Given the description of an element on the screen output the (x, y) to click on. 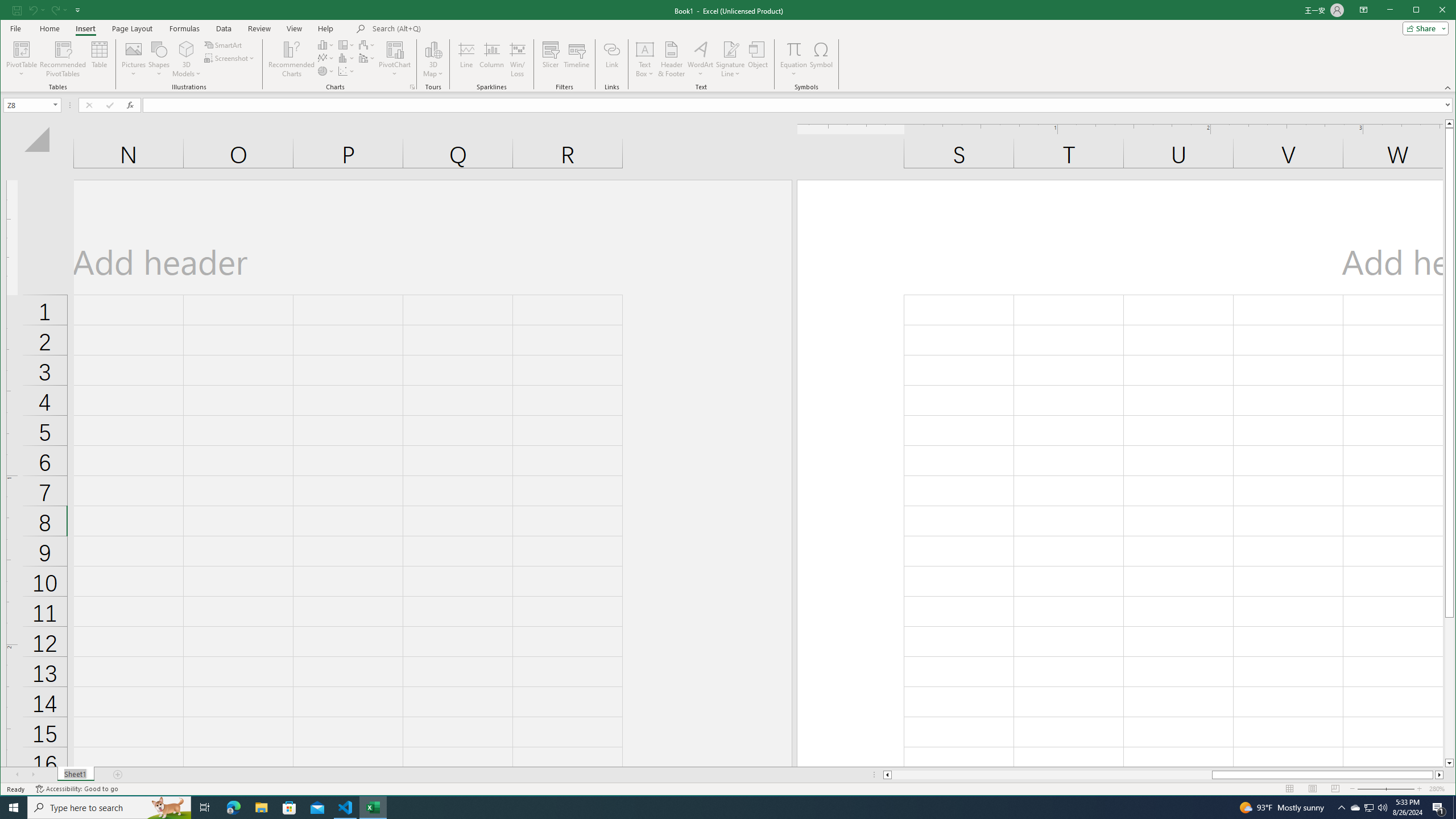
Microsoft Store (289, 807)
PivotChart (394, 48)
Draw Horizontal Text Box (644, 48)
Timeline (576, 59)
PivotChart (394, 59)
Insert Pie or Doughnut Chart (325, 70)
Recommended PivotTables (63, 59)
Signature Line (729, 48)
Shapes (159, 59)
Microsoft Edge (233, 807)
